Given the description of an element on the screen output the (x, y) to click on. 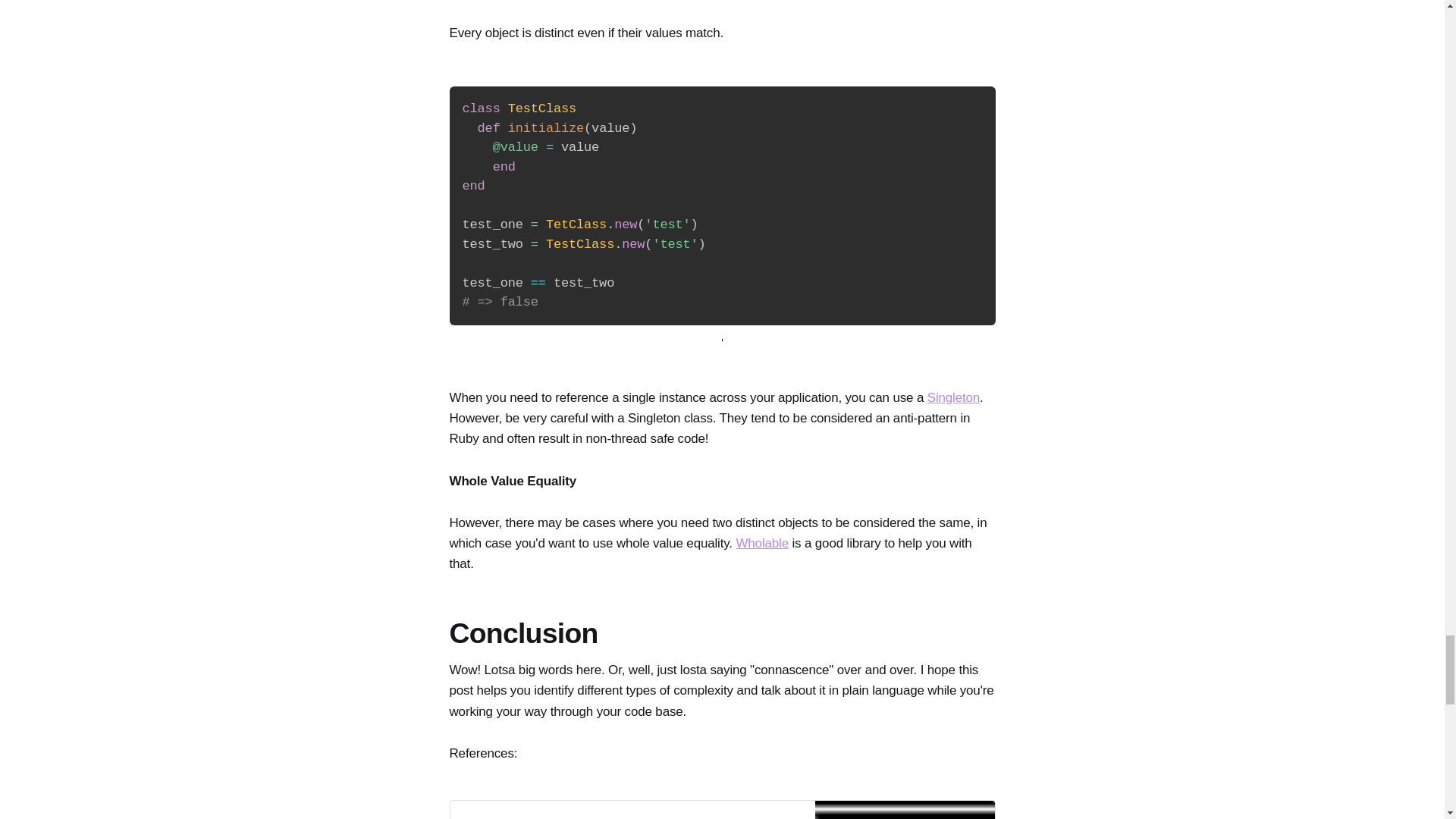
Singleton (953, 397)
Wholable (721, 809)
